Given the description of an element on the screen output the (x, y) to click on. 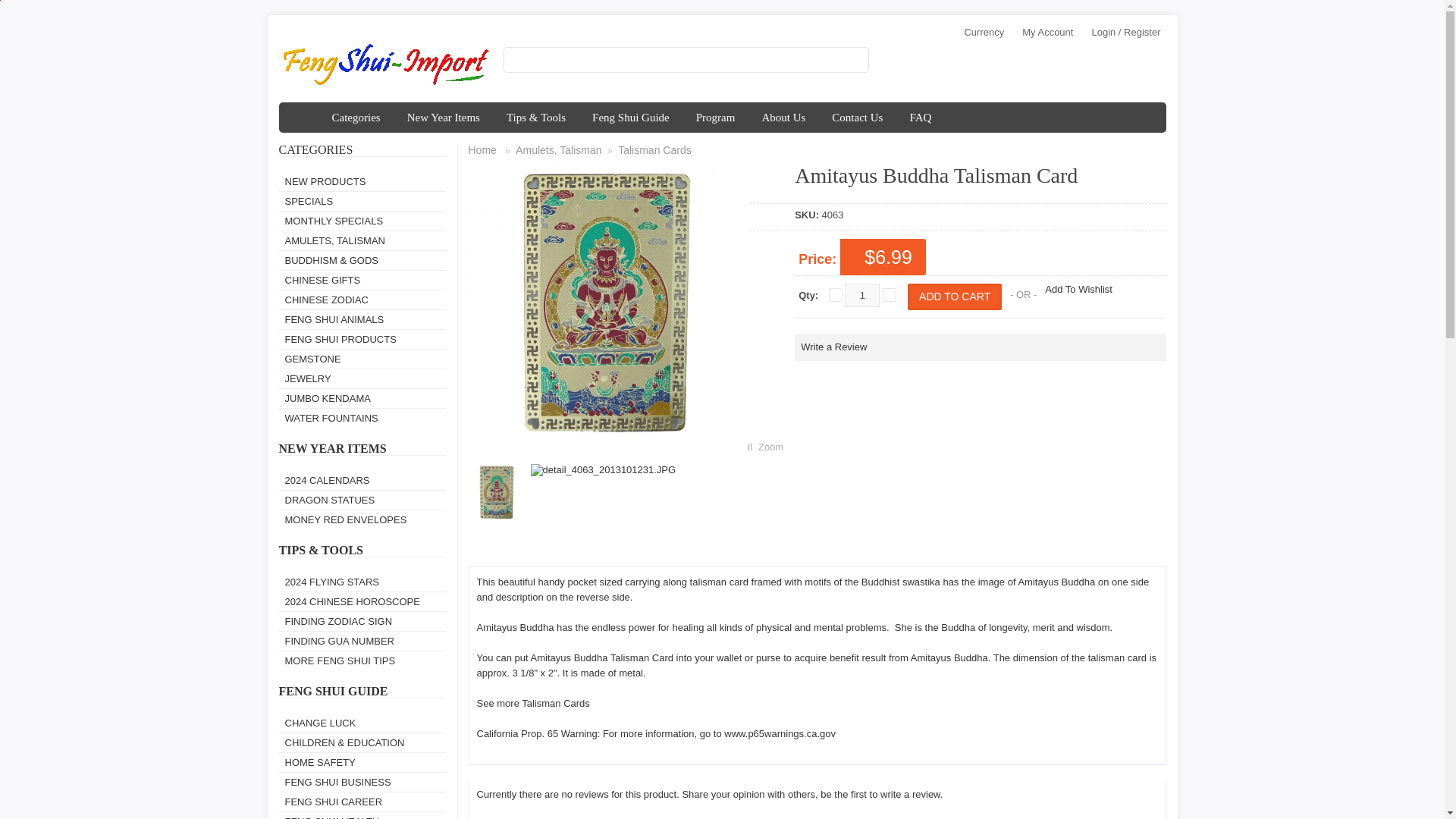
Feng Shui Guide (630, 117)
Add To Cart (954, 296)
Categories (355, 117)
Home (301, 117)
1 (861, 295)
New Year Items (444, 117)
